Given the description of an element on the screen output the (x, y) to click on. 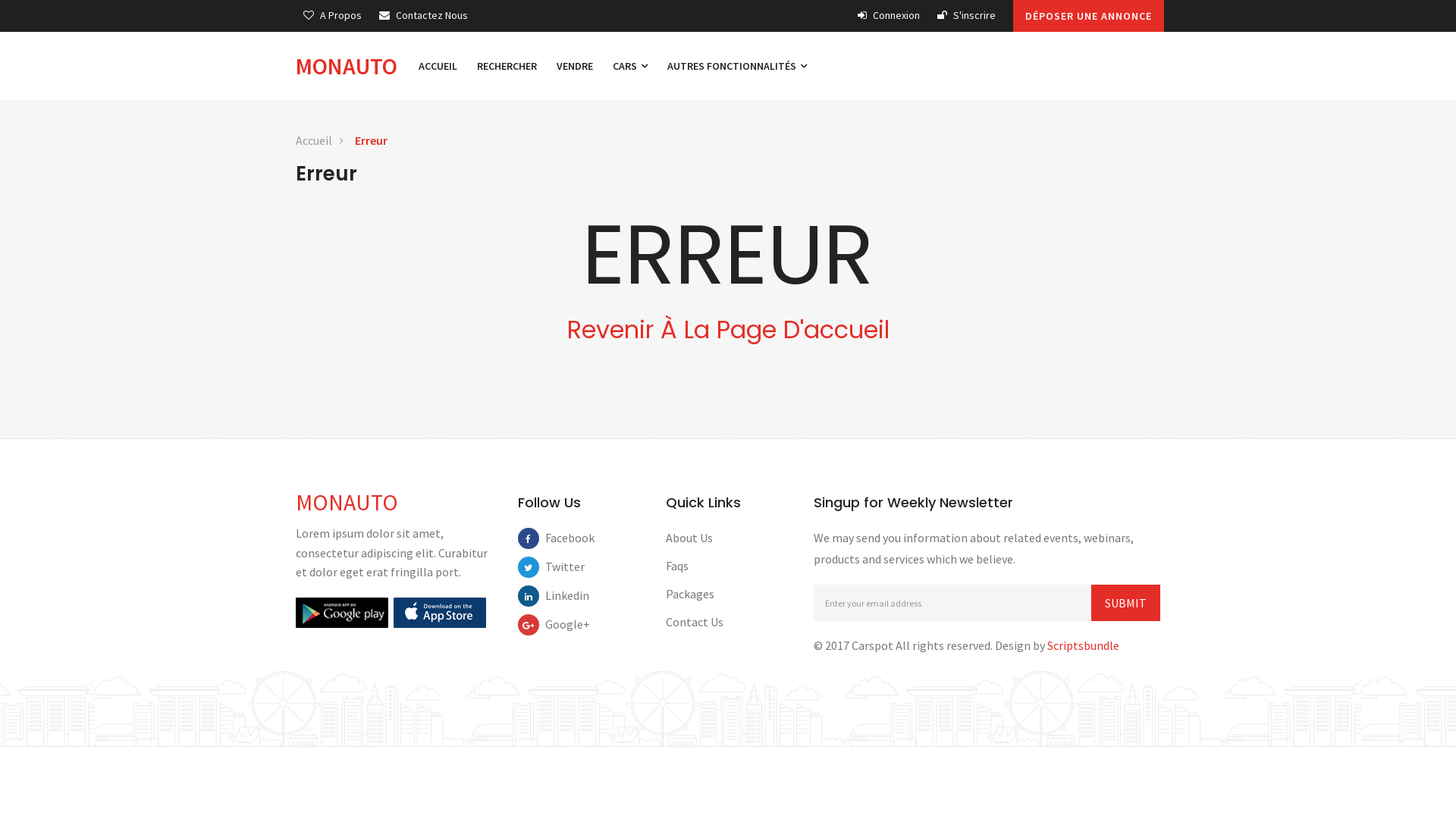
MONAUTO Element type: text (346, 501)
S'Inscrire Element type: text (966, 14)
A Propos Element type: text (332, 14)
Scriptsbundle Element type: text (1082, 644)
Accueil Element type: text (313, 140)
CARS Element type: text (629, 65)
About Us Element type: text (688, 537)
Contactez Nous Element type: text (423, 14)
Faqs Element type: text (676, 565)
Erreur Element type: text (370, 140)
Packages Element type: text (689, 593)
MONAUTO Element type: text (351, 65)
ACCUEIL Element type: text (437, 65)
Submit Element type: text (1125, 602)
Contact Us Element type: text (694, 621)
RECHERCHER Element type: text (506, 65)
VENDRE Element type: text (574, 65)
Connexion Element type: text (888, 14)
